Given the description of an element on the screen output the (x, y) to click on. 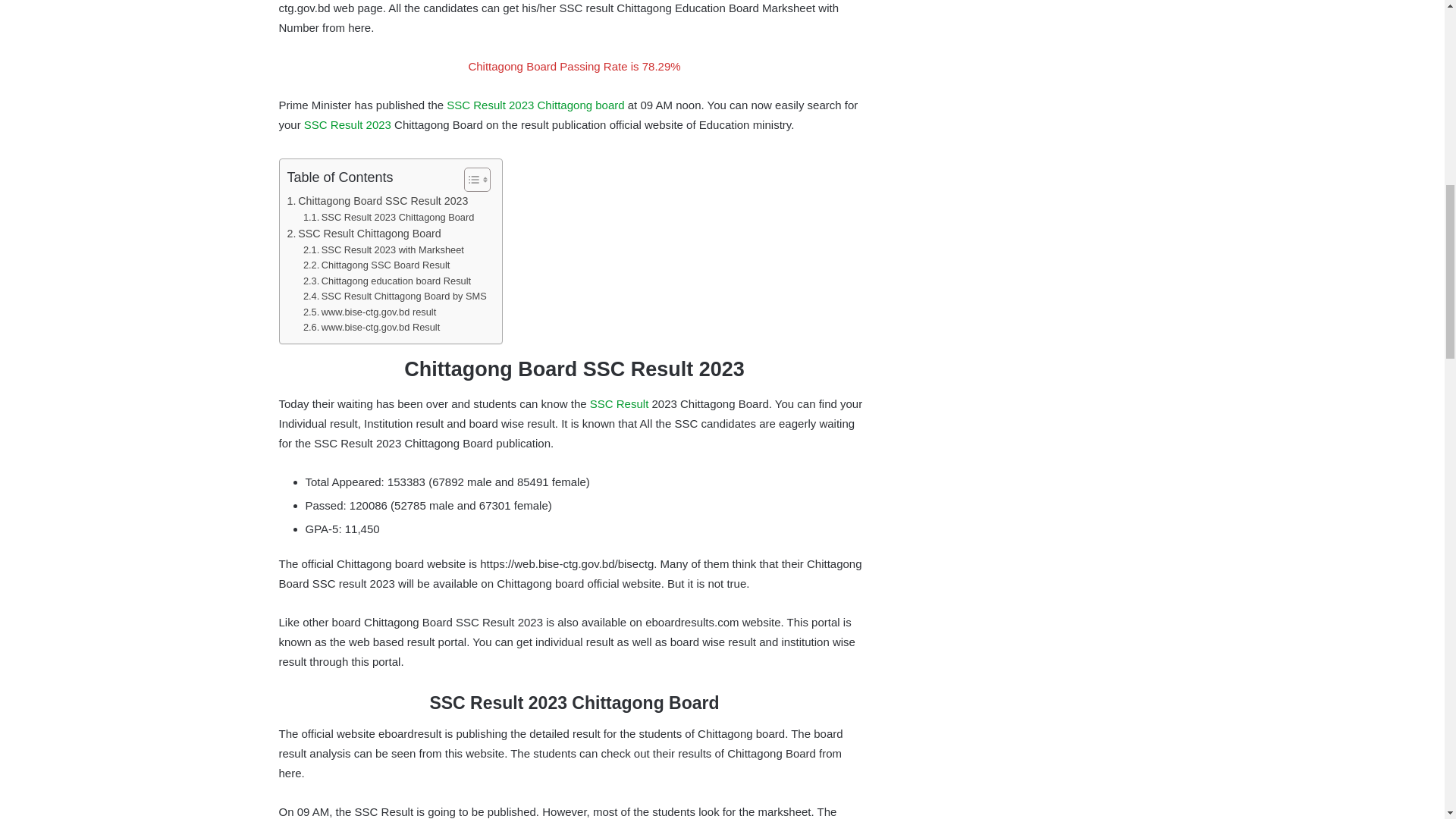
Chittagong Board SSC Result 2023 (376, 200)
Chittagong education board Result  (386, 281)
SSC Result 2023 Chittagong Board (388, 217)
Chittagong SSC Board Result (375, 265)
www.bise-ctg.gov.bd result (368, 312)
www.bise-ctg.gov.bd Result (370, 327)
SSC Result 2023 Chittagong board (535, 104)
Chittagong education board Result (386, 281)
SSC Result (619, 403)
 SSC Result Chittagong Board  (363, 233)
